Given the description of an element on the screen output the (x, y) to click on. 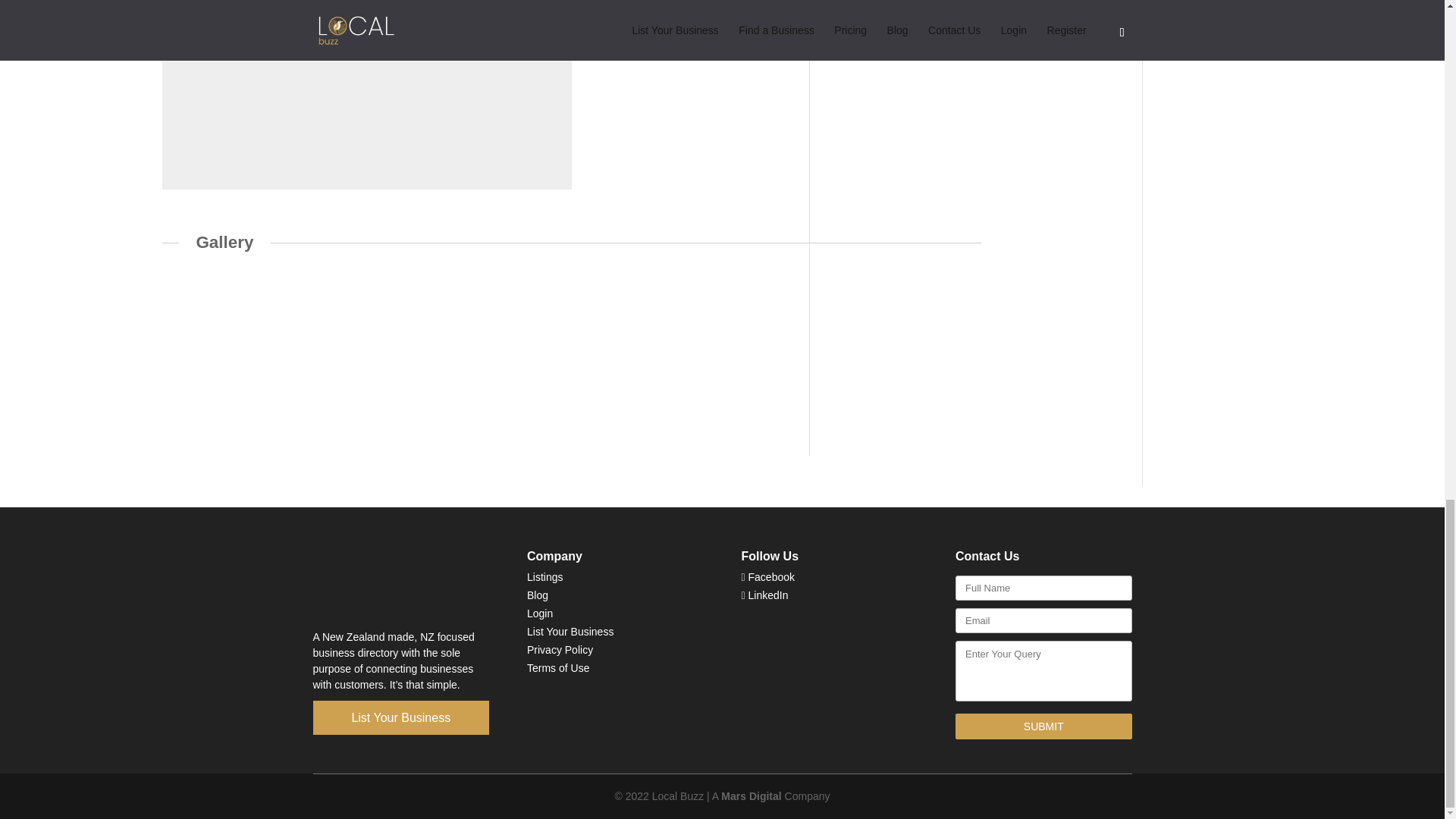
List Your Business (401, 718)
Blog (537, 594)
Submit (1043, 726)
Listings (544, 576)
Login (540, 613)
